Given the description of an element on the screen output the (x, y) to click on. 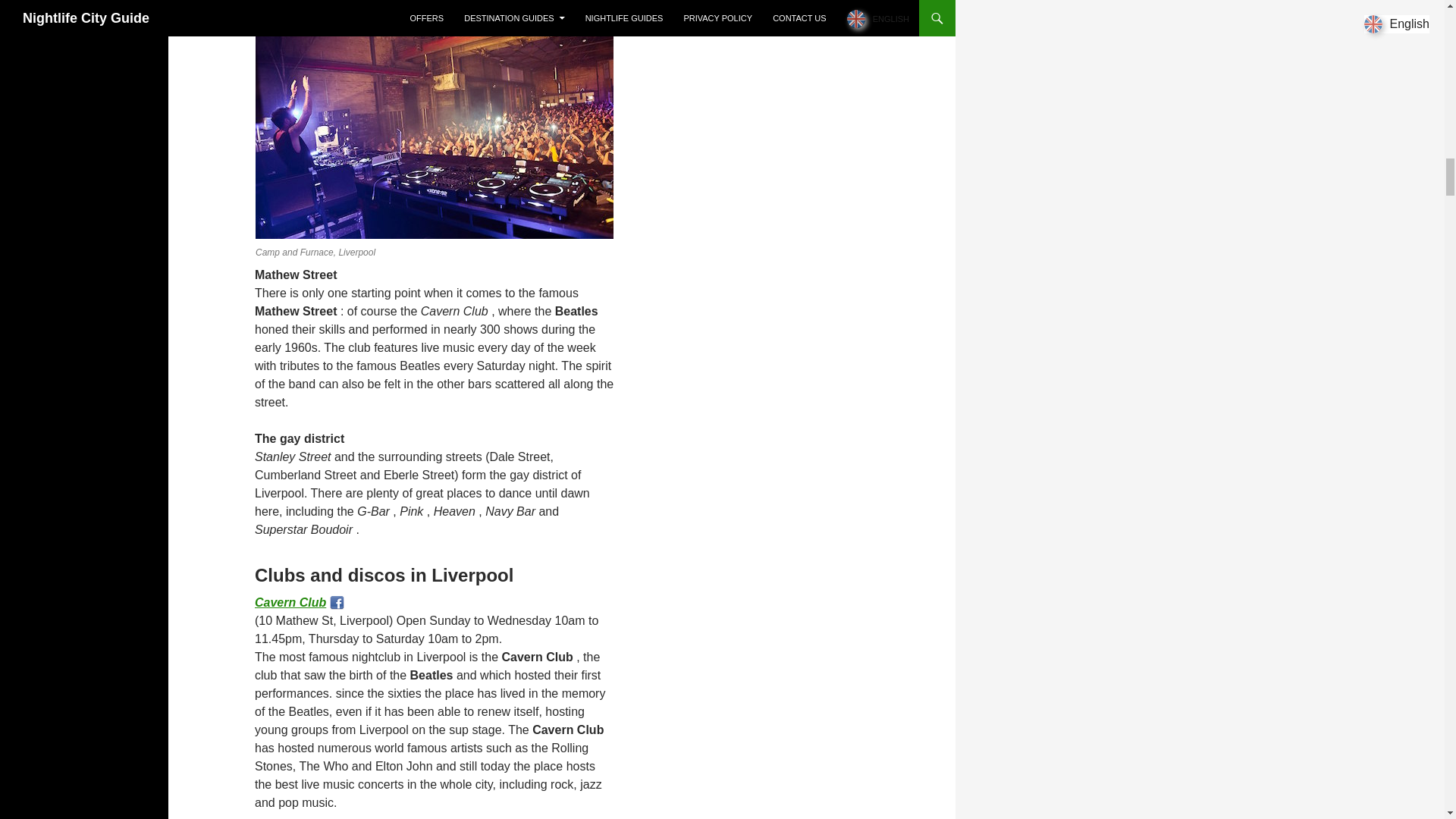
Liverpool Cavern Club nightlife (290, 602)
